Given the description of an element on the screen output the (x, y) to click on. 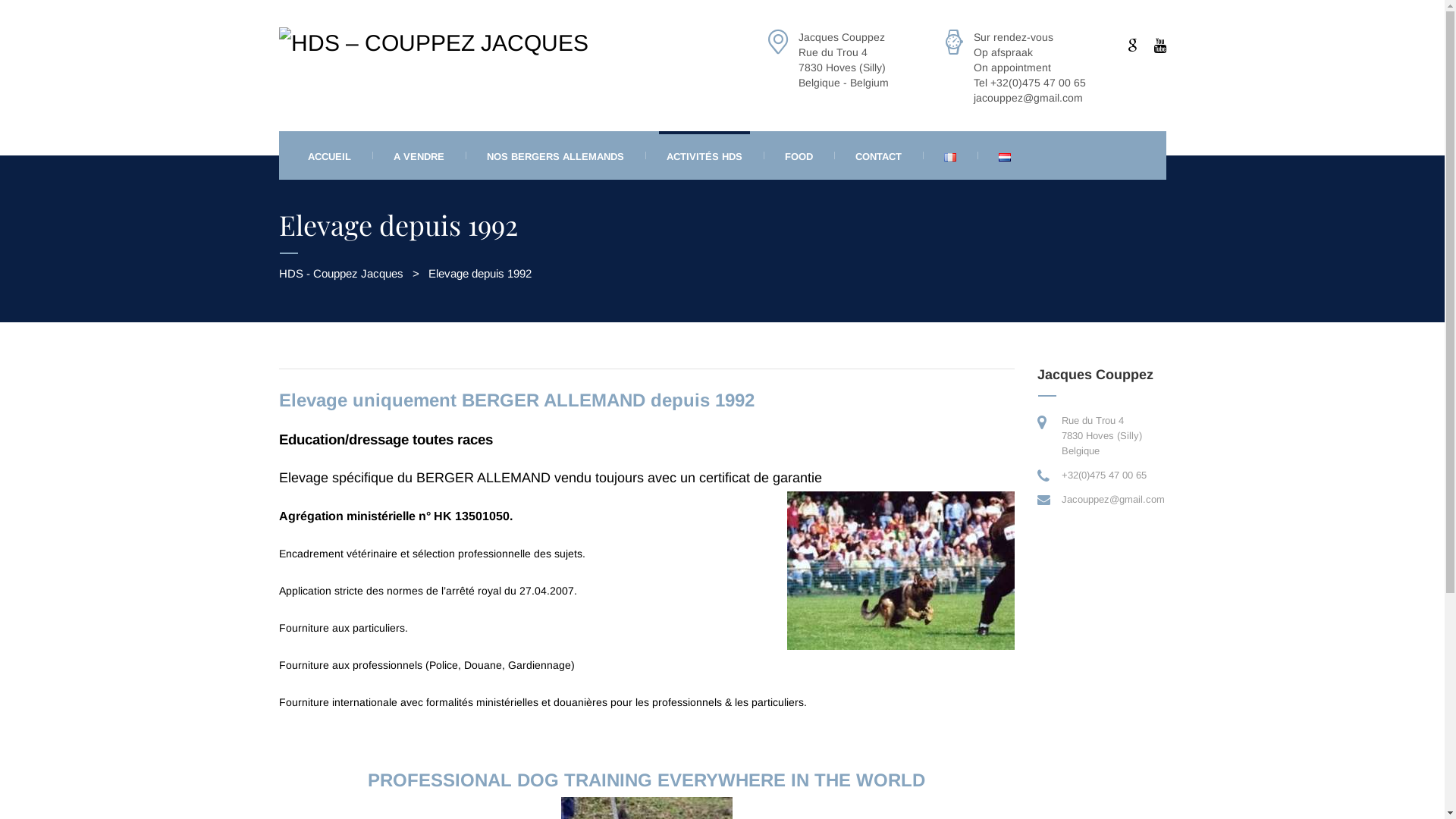
ACCUEIL Element type: text (329, 155)
Jacouppez@gmail.com Element type: text (1112, 499)
NOS BERGERS ALLEMANDS Element type: text (555, 155)
CONTACT Element type: text (878, 155)
Nederlands Element type: hover (1003, 157)
A VENDRE Element type: text (418, 155)
FOOD Element type: text (797, 155)
HDS - Couppez Jacques Element type: text (341, 272)
